Given the description of an element on the screen output the (x, y) to click on. 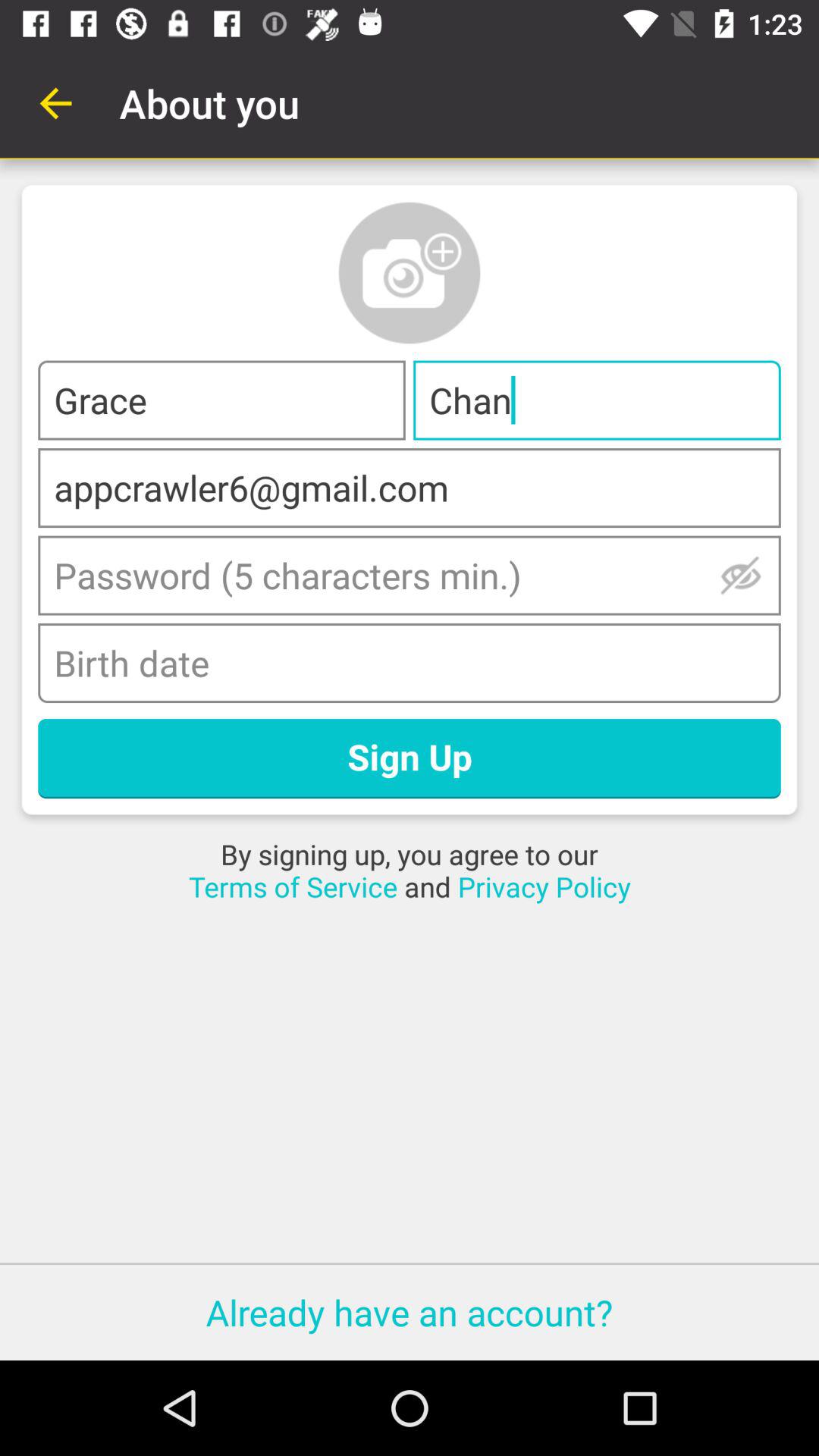
enter password (409, 575)
